Given the description of an element on the screen output the (x, y) to click on. 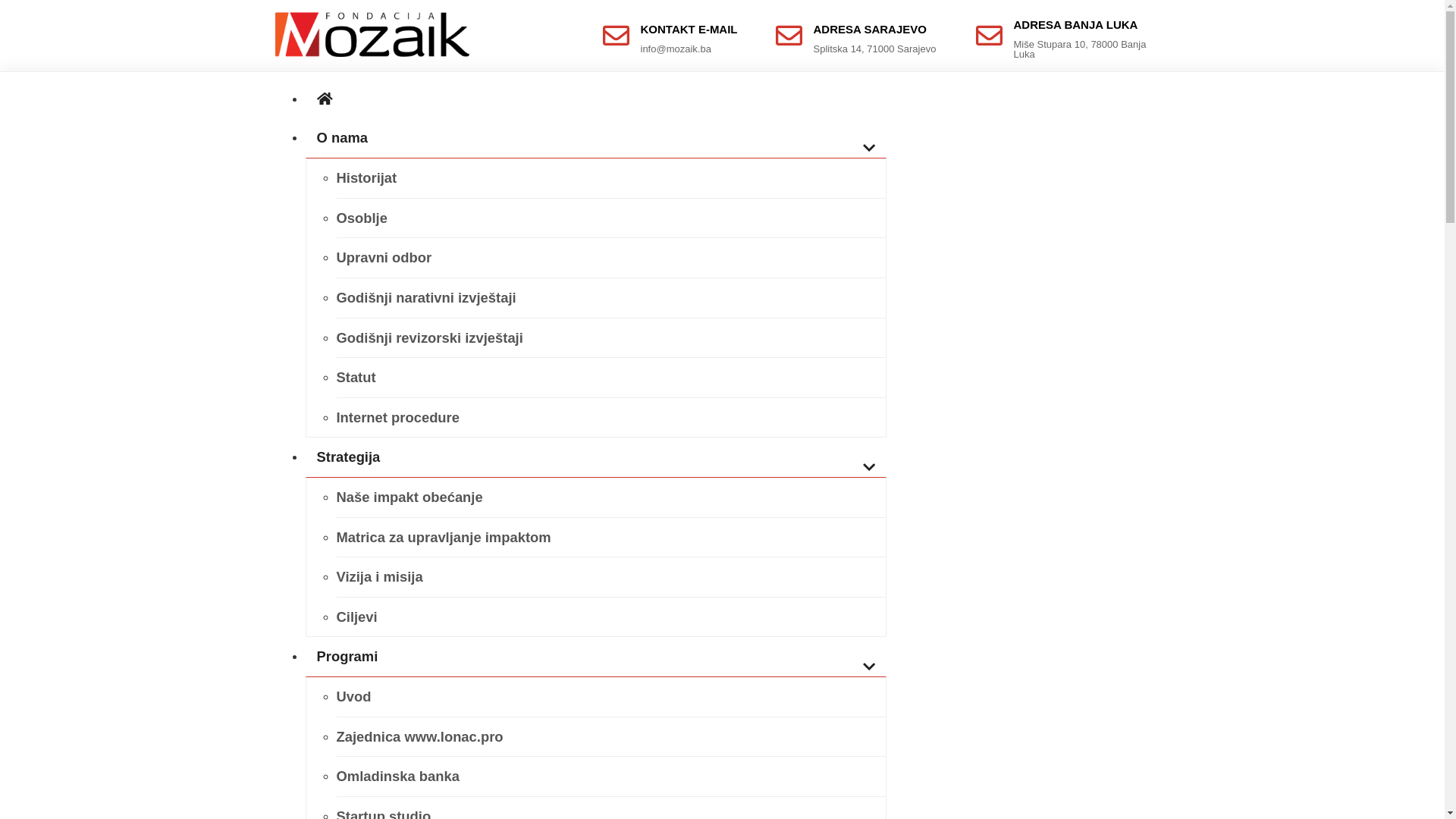
Internet procedure Element type: text (610, 417)
Upravni odbor Element type: text (610, 257)
Statut Element type: text (610, 377)
Uvod Element type: text (610, 696)
Matrica za upravljanje impaktom Element type: text (610, 537)
Programi Element type: text (594, 656)
O nama Element type: text (594, 137)
Zajednica www.lonac.pro Element type: text (610, 736)
Historijat Element type: text (610, 177)
Vizija i misija Element type: text (610, 576)
Osoblje Element type: text (610, 218)
Strategija Element type: text (594, 456)
Ciljevi Element type: text (610, 617)
Omladinska banka Element type: text (610, 776)
